Given the description of an element on the screen output the (x, y) to click on. 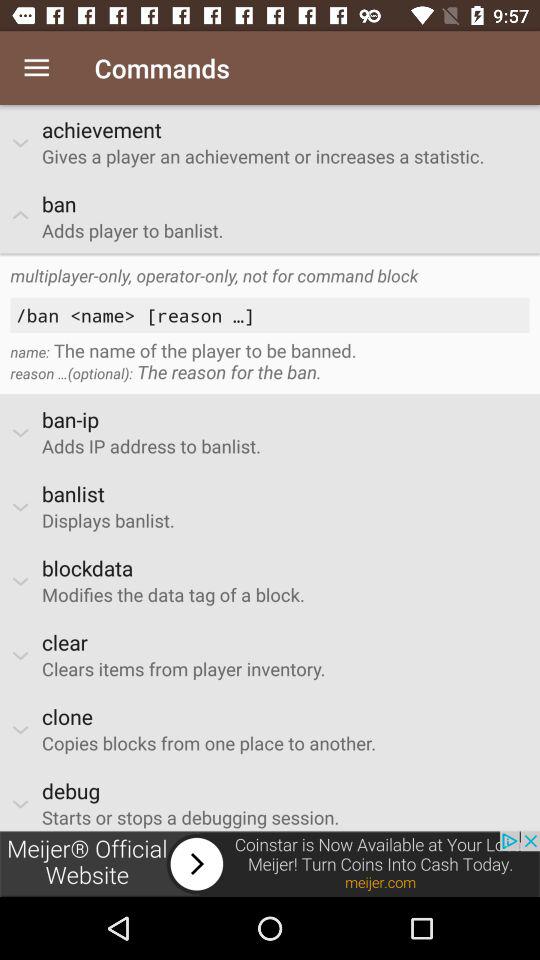
advertisement area (270, 864)
